Given the description of an element on the screen output the (x, y) to click on. 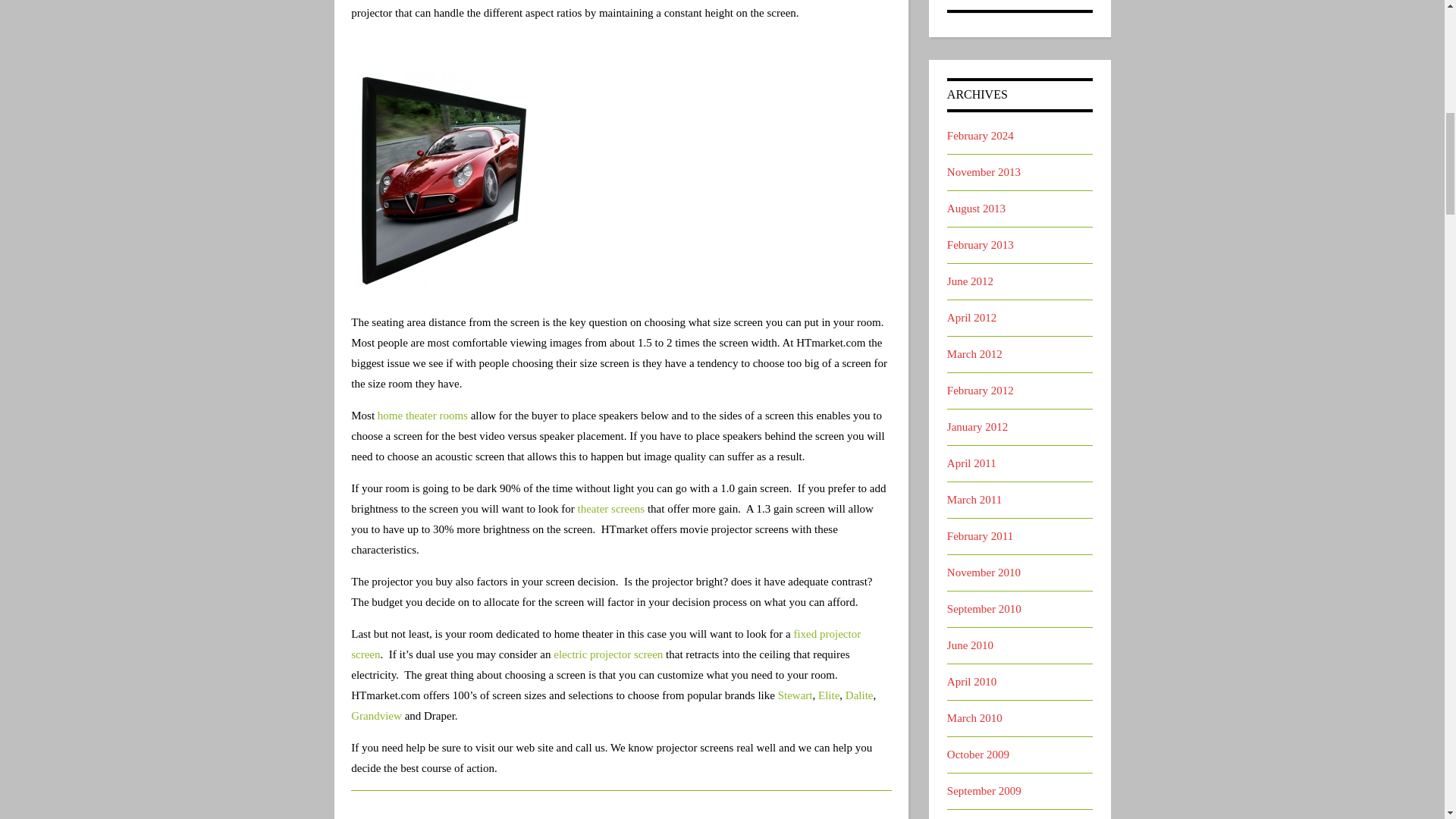
electric projector screen (607, 654)
home theater rooms (422, 415)
Dalite (859, 695)
Grandview (375, 715)
Elite (829, 695)
fixed projector screen (605, 644)
theater screens (611, 508)
Stewart (794, 695)
